Given the description of an element on the screen output the (x, y) to click on. 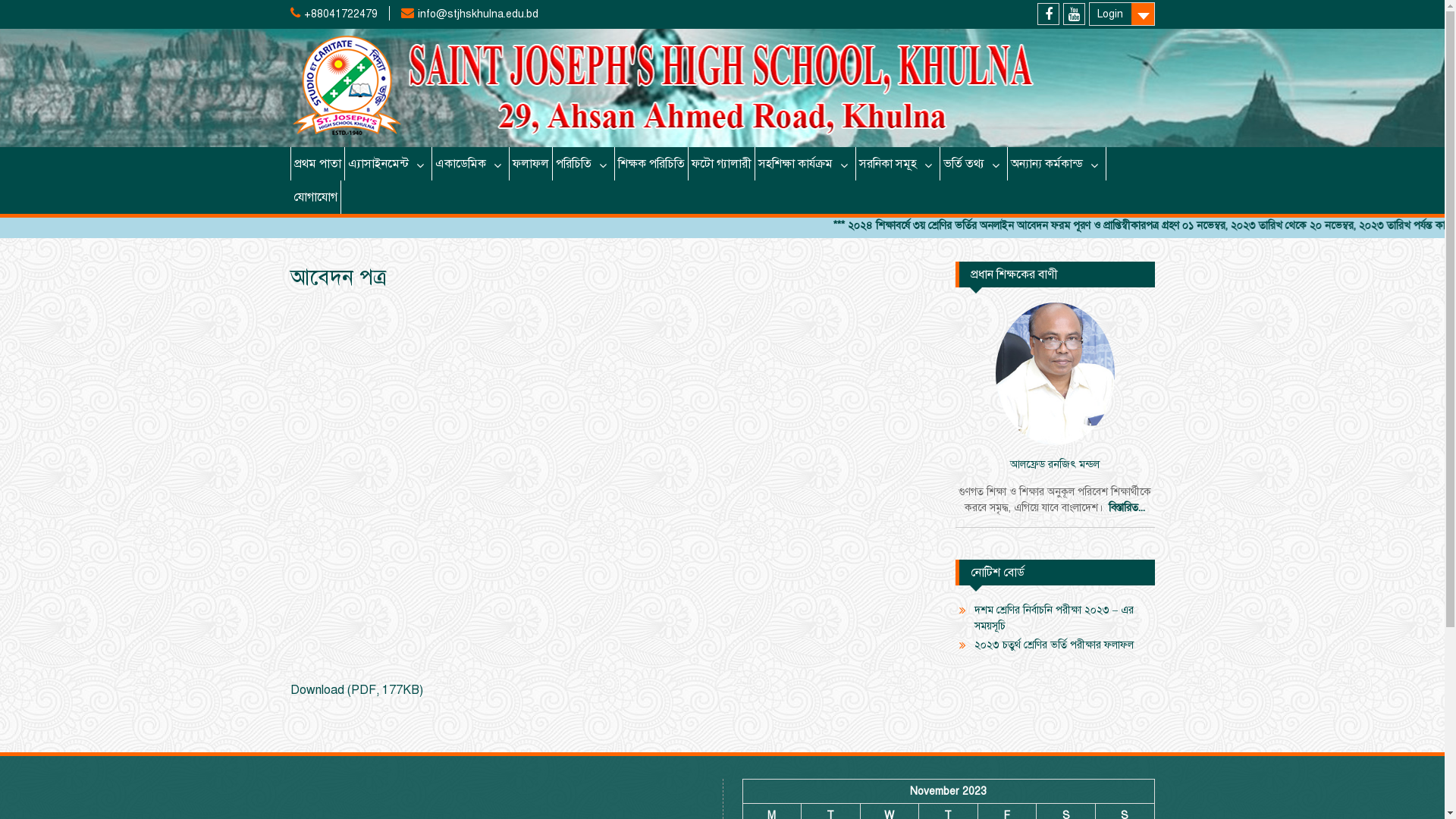
info@stjhskhulna.edu.bd Element type: text (477, 13)
FB Element type: text (1048, 14)
YouTube Element type: text (1074, 14)
+88041722479 Element type: text (339, 13)
Download (PDF, 177KB) Element type: text (355, 689)
Login Element type: text (1121, 13)
